Given the description of an element on the screen output the (x, y) to click on. 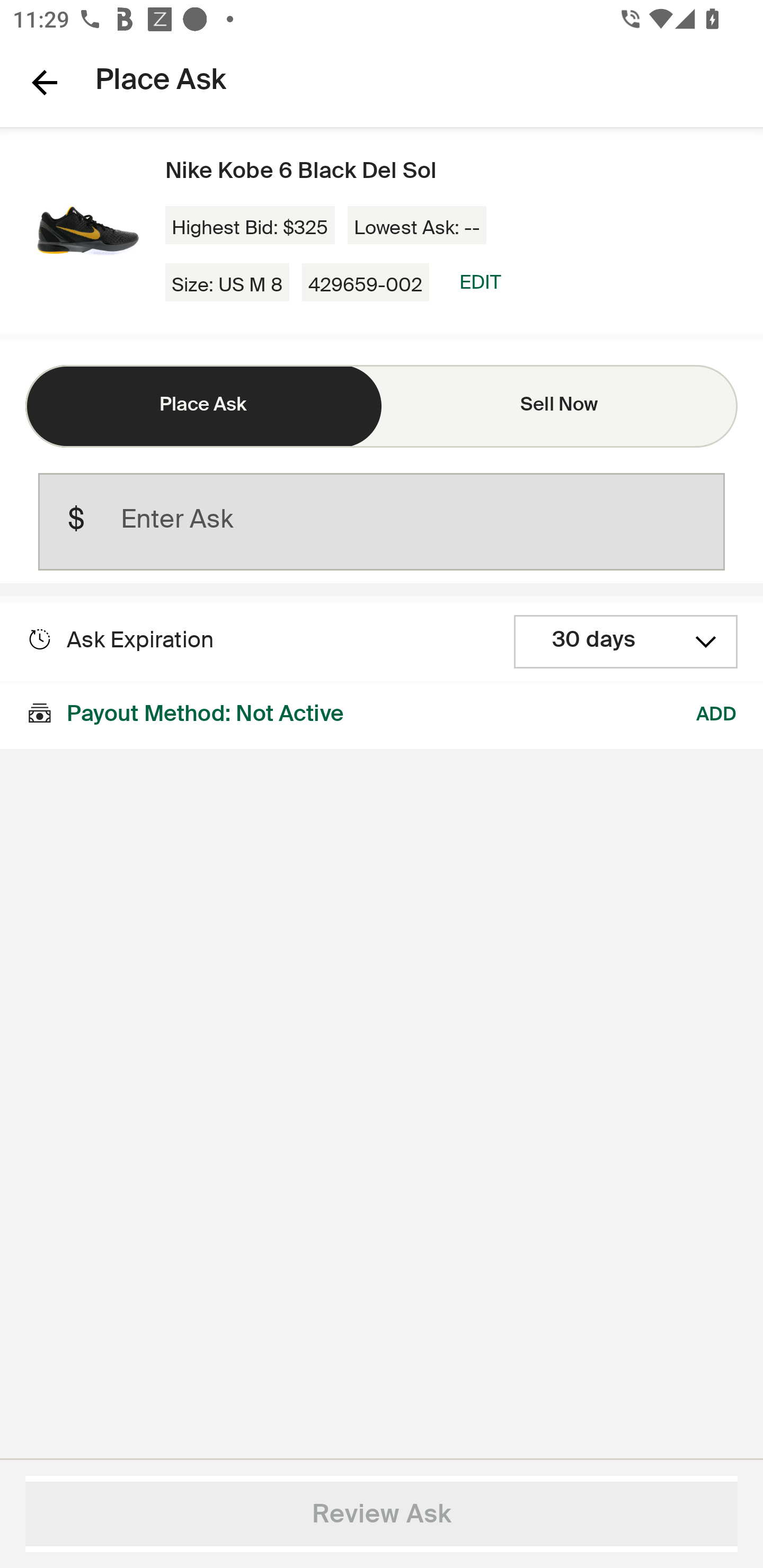
EDIT (479, 281)
Place Ask (203, 405)
Sell Now (559, 405)
$ Enter Ask (381, 521)
Expiration icon Ask Expiration (119, 640)
30 days Expiration dropdown arrow icon (625, 641)
ADD (717, 715)
reviewButtonContentDescriptionID Review Ask (381, 1513)
